Given the description of an element on the screen output the (x, y) to click on. 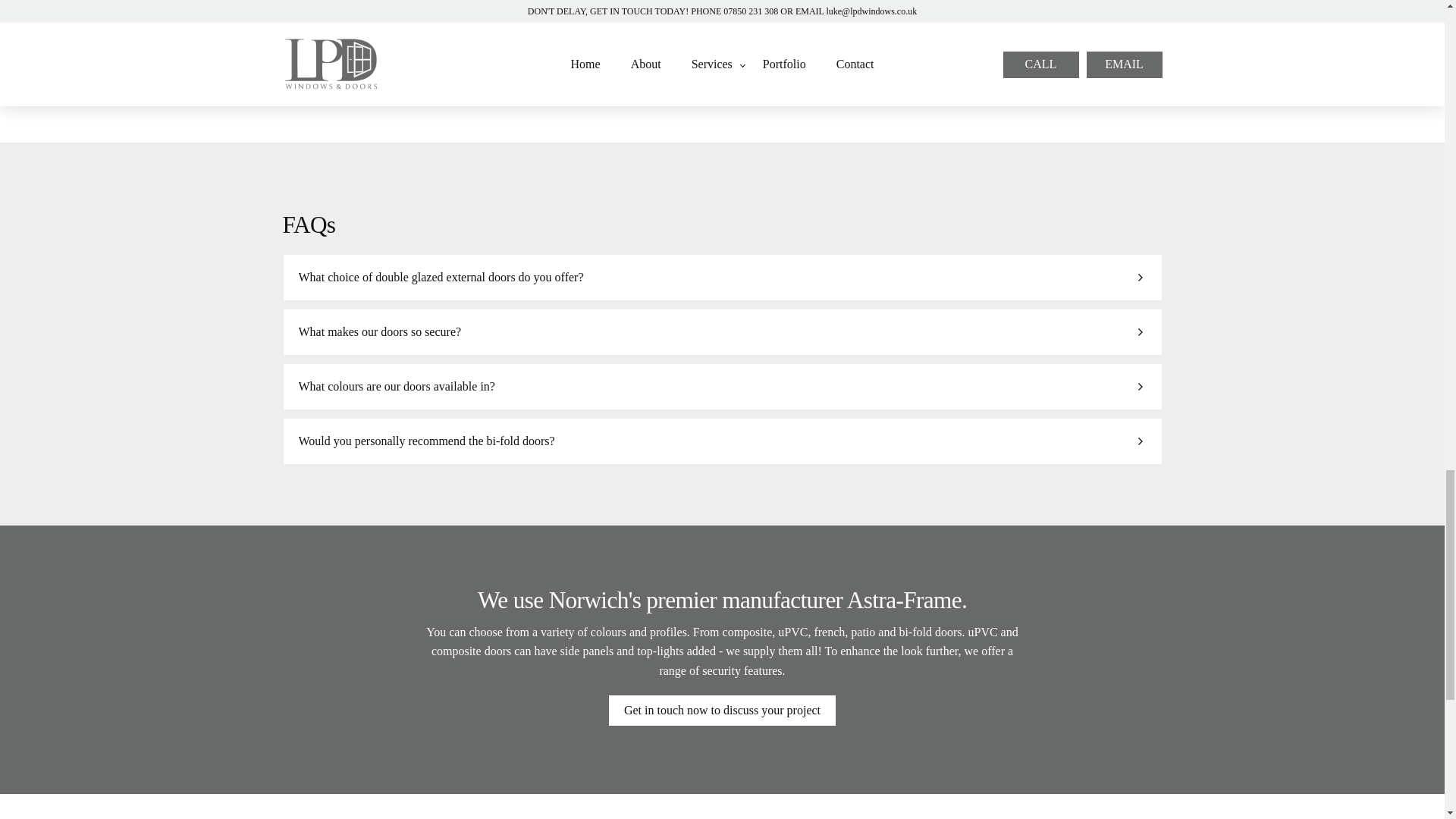
Get in touch now to discuss your project (721, 714)
What makes our doors so secure? (722, 331)
What choice of double glazed external doors do you offer? (722, 277)
Would you personally recommend the bi-fold doors? (722, 441)
What colours are our doors available in? (722, 386)
